Given the description of an element on the screen output the (x, y) to click on. 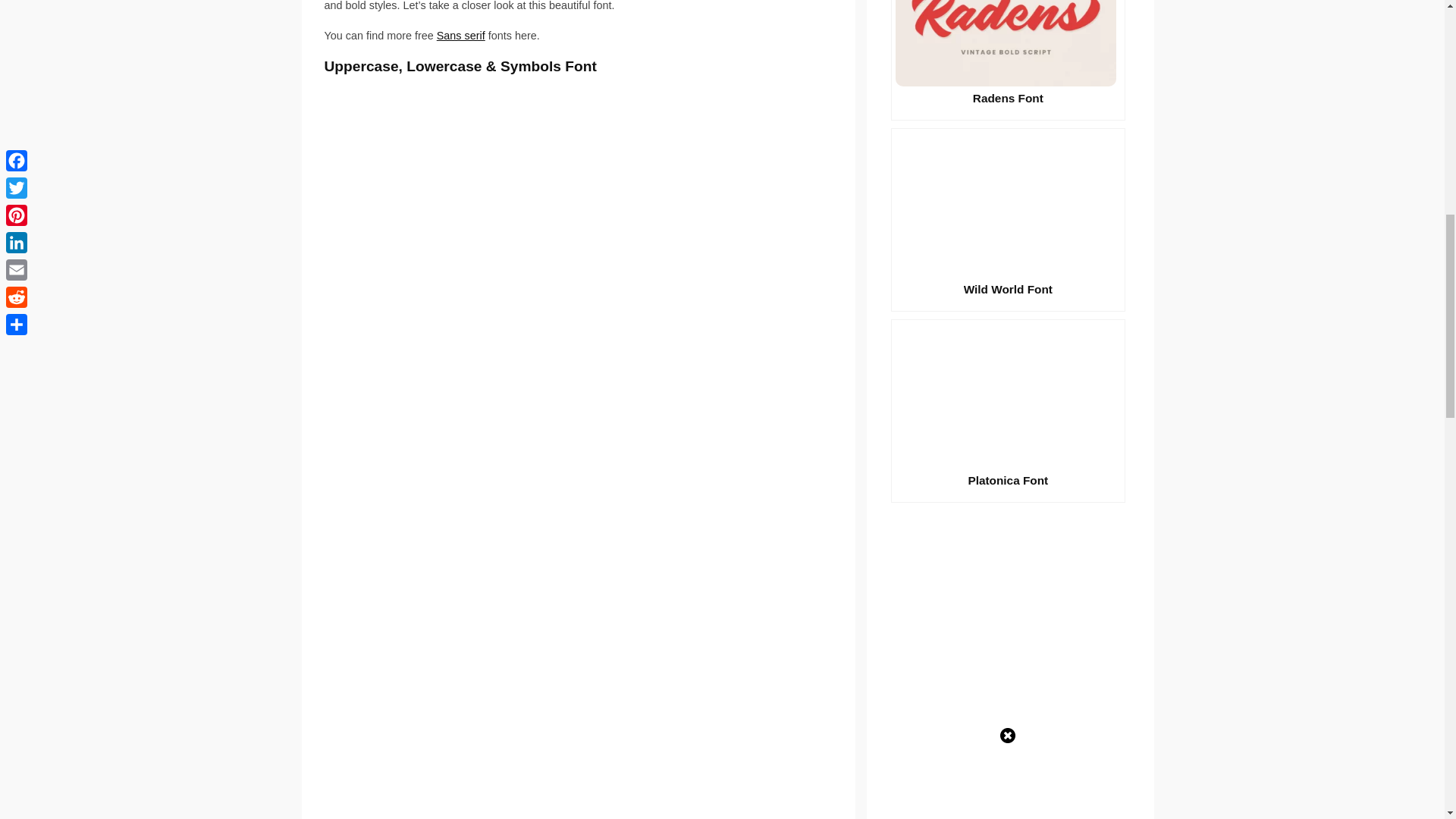
Sans serif (460, 35)
Platonica Font (1008, 410)
Radens Font (1008, 60)
Platonica Font (1008, 410)
Radens Font (1008, 60)
Wild World Font (1008, 219)
Wild World Font (1008, 219)
